Given the description of an element on the screen output the (x, y) to click on. 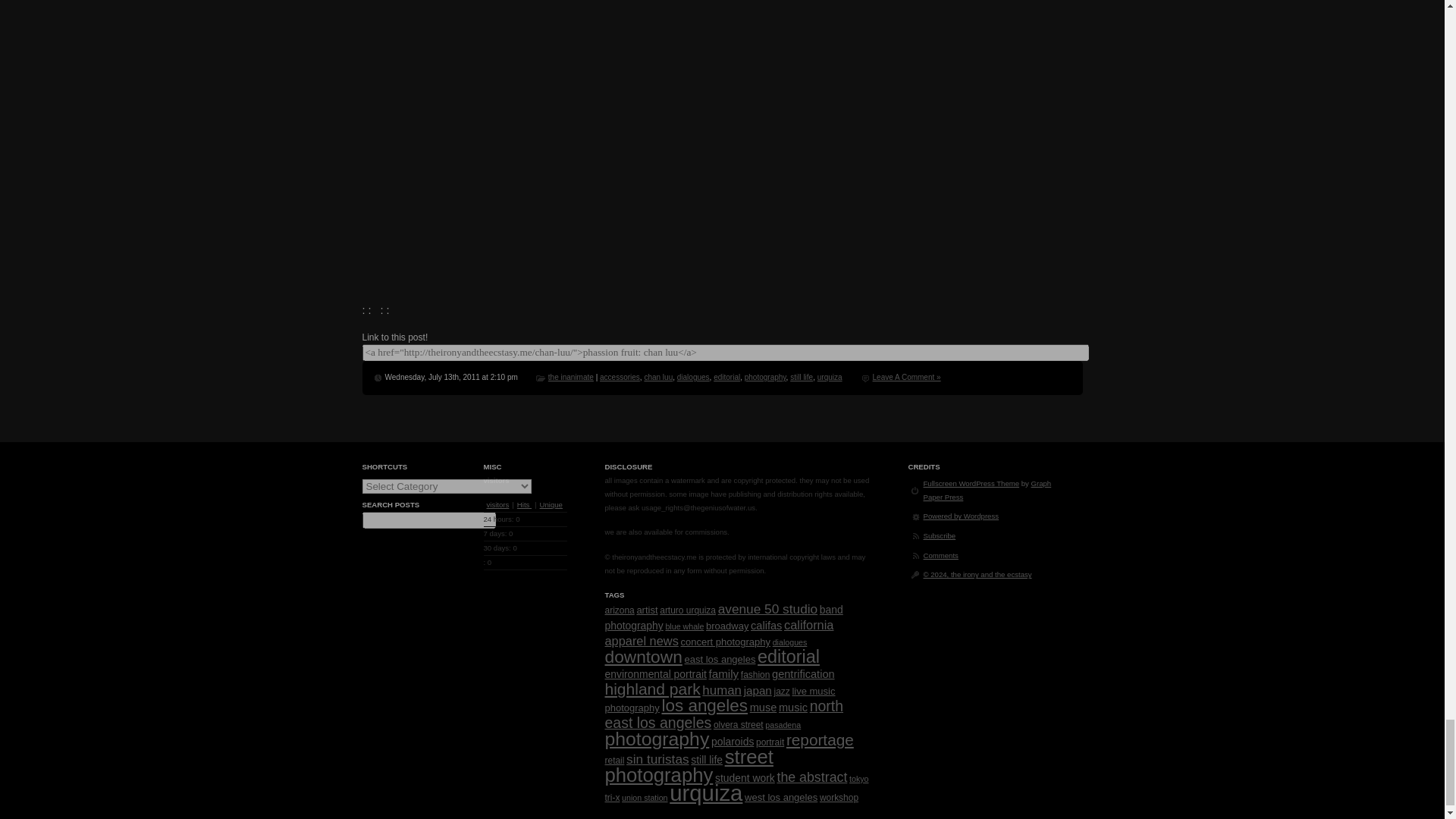
Fullscreen WordPress theme (971, 483)
Home (977, 574)
Graph Paper Press (987, 490)
